Given the description of an element on the screen output the (x, y) to click on. 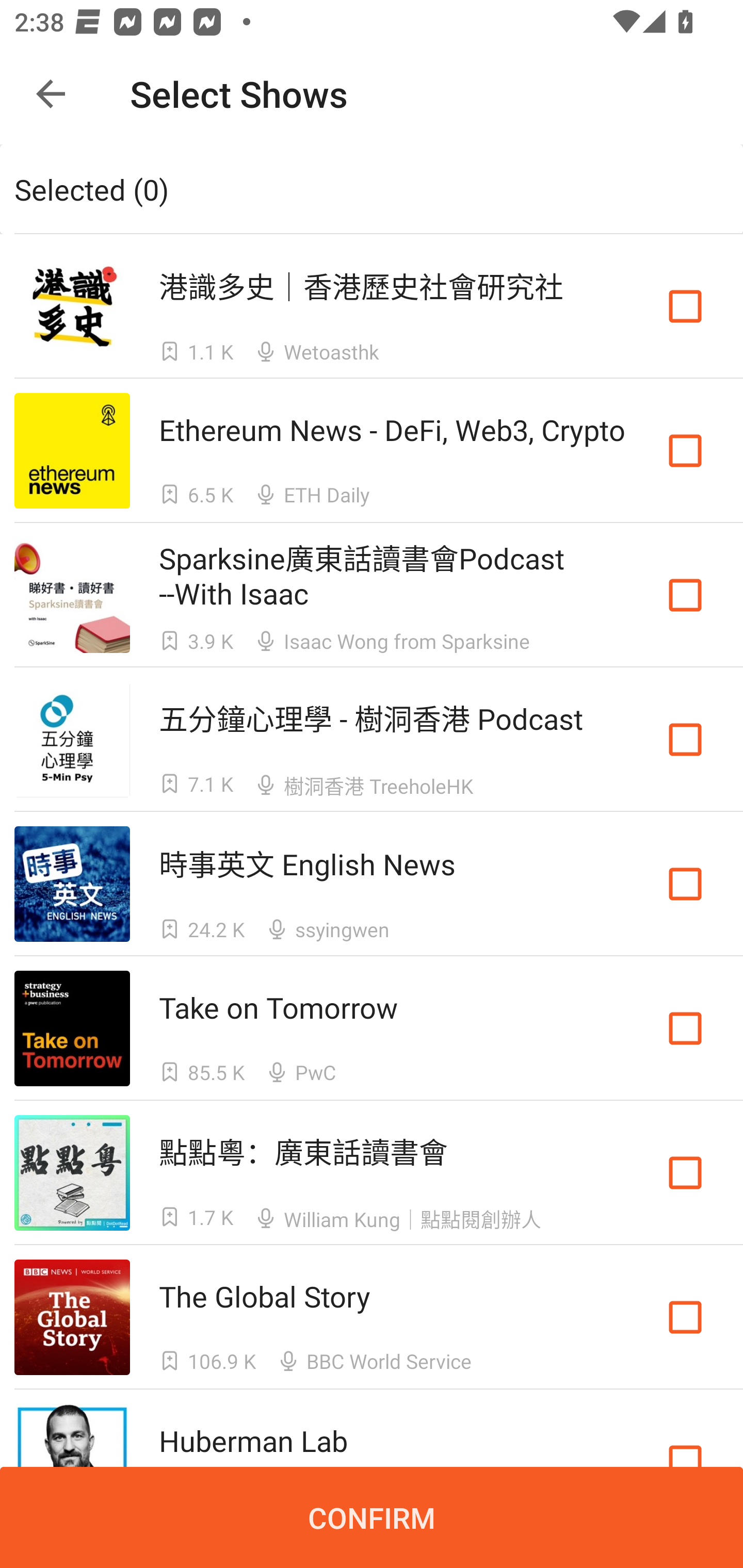
Navigate up (50, 93)
港識多史｜香港歷史社會研究社 港識多史｜香港歷史社會研究社  1.1 K  Wetoasthk (371, 305)
Take on Tomorrow Take on Tomorrow  85.5 K  PwC (371, 1028)
CONFIRM (371, 1517)
